Given the description of an element on the screen output the (x, y) to click on. 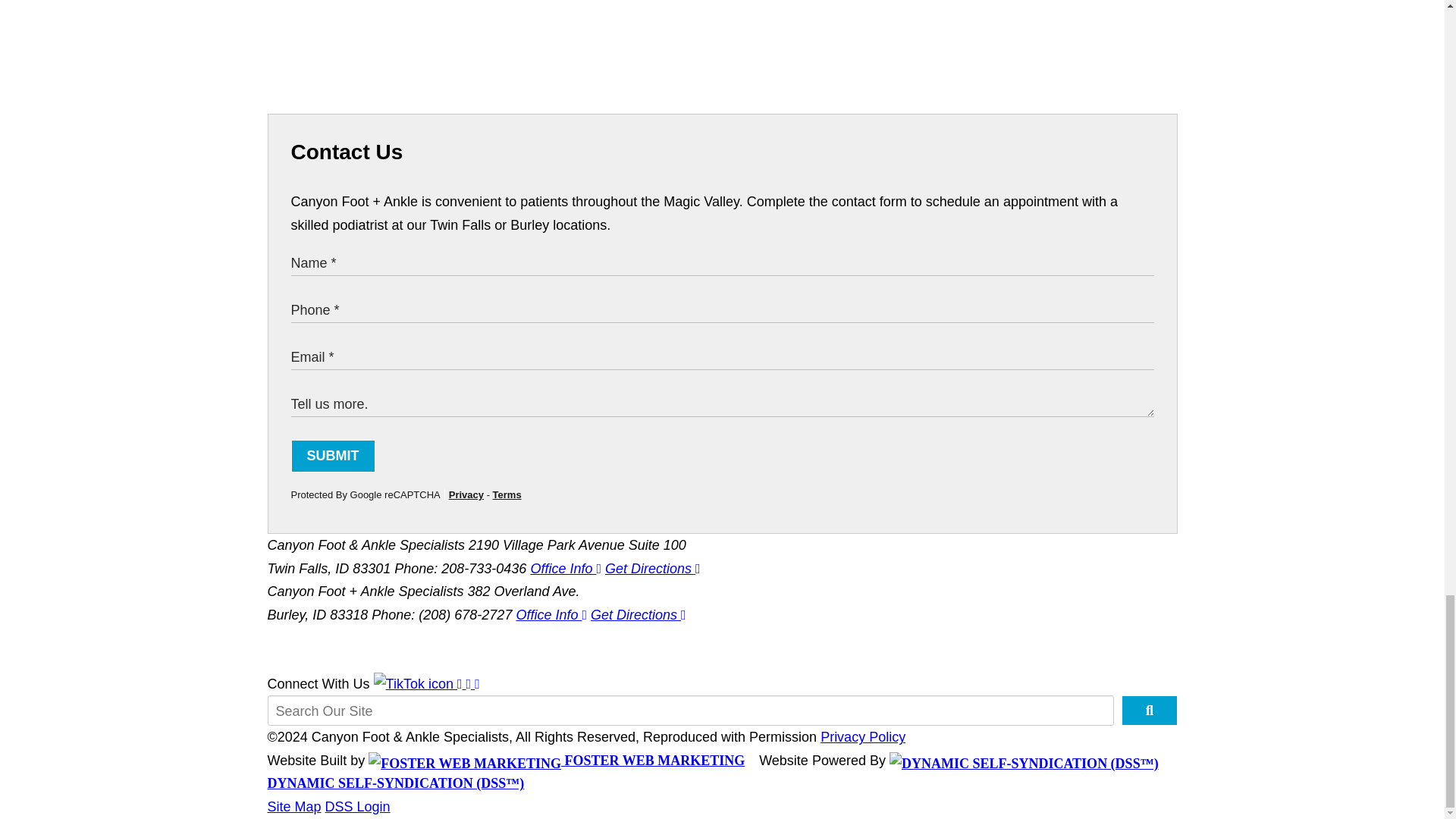
Search (1148, 710)
